Given the description of an element on the screen output the (x, y) to click on. 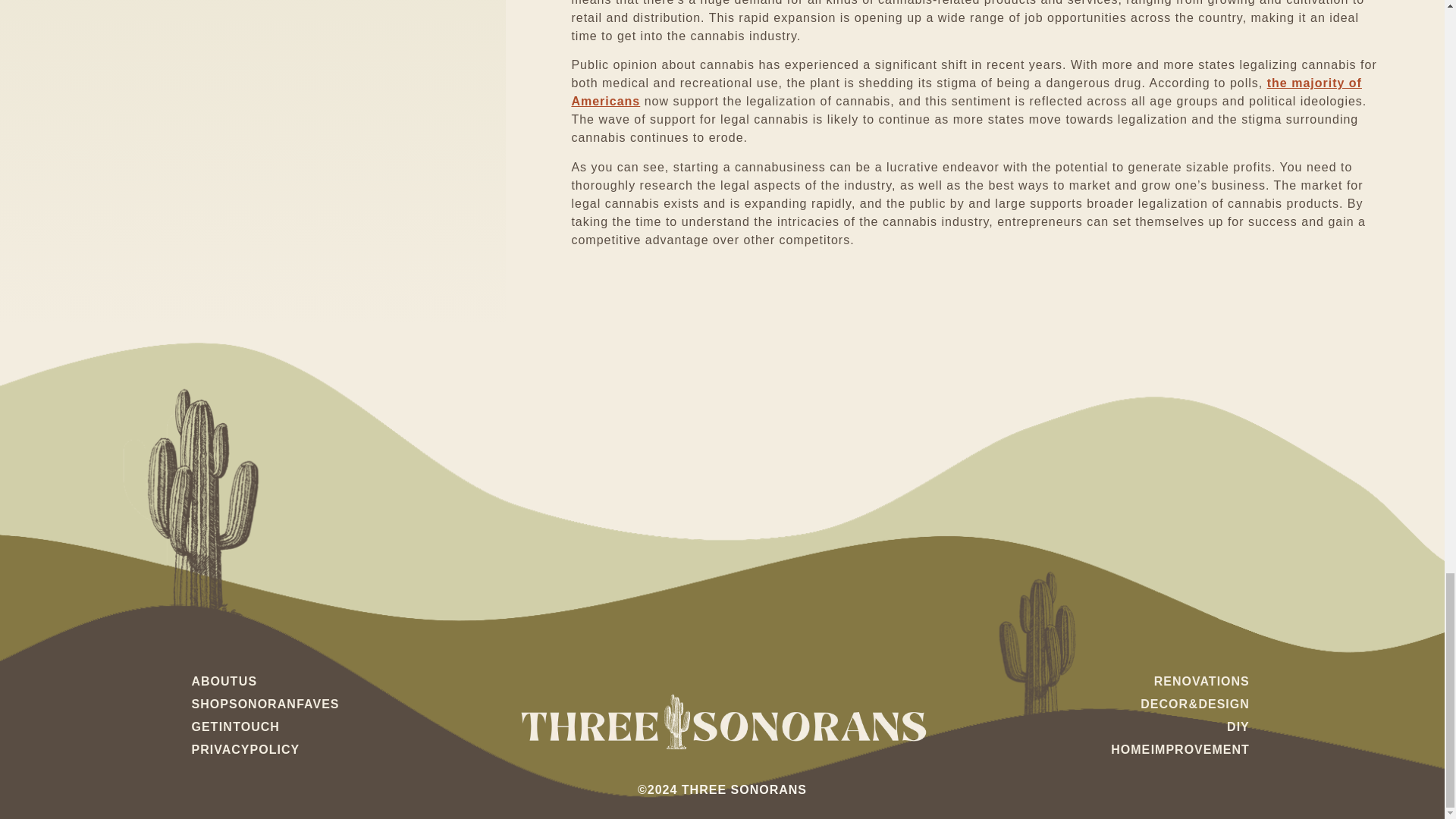
ABOUT US (344, 681)
the majority of Americans (965, 91)
